Given the description of an element on the screen output the (x, y) to click on. 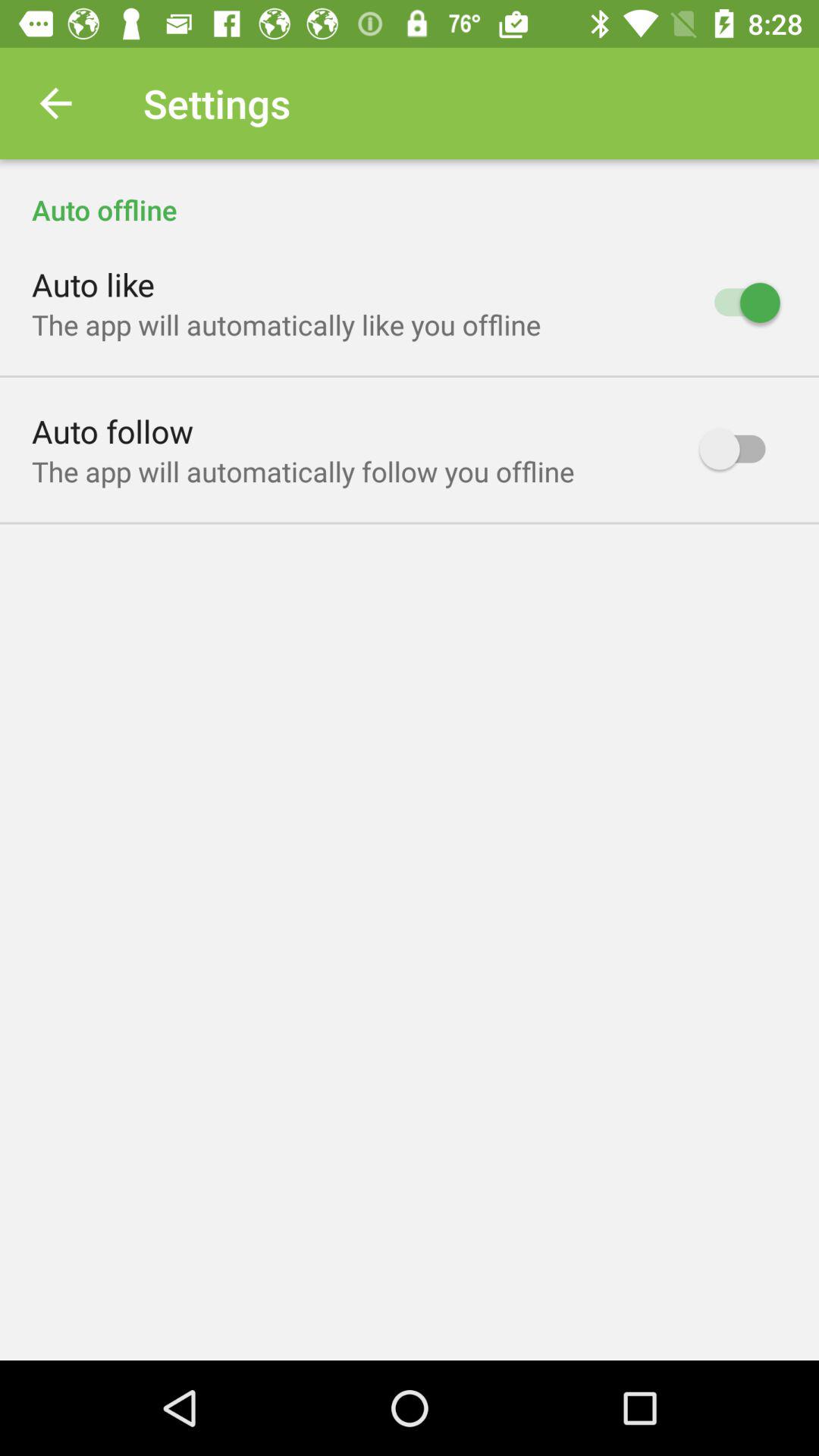
launch the item above the the app will (92, 283)
